Given the description of an element on the screen output the (x, y) to click on. 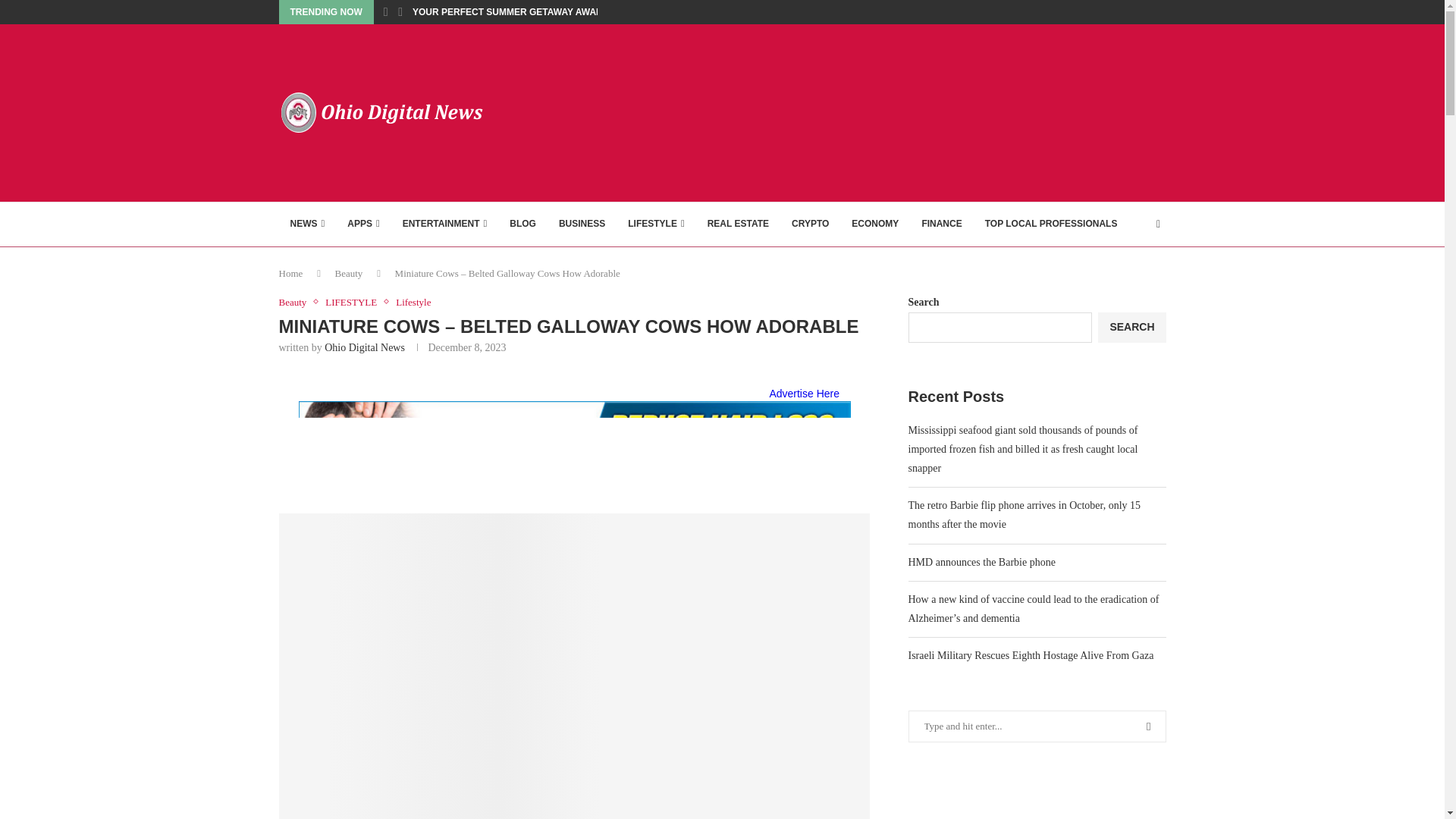
BUSINESS (581, 224)
NEWS (307, 224)
LIFESTYLE (655, 224)
APPS (363, 224)
ENTERTAINMENT (445, 224)
YOUR PERFECT SUMMER GETAWAY AWAITS AT HEIMISH RETREAT! (561, 12)
BLOG (522, 224)
